Given the description of an element on the screen output the (x, y) to click on. 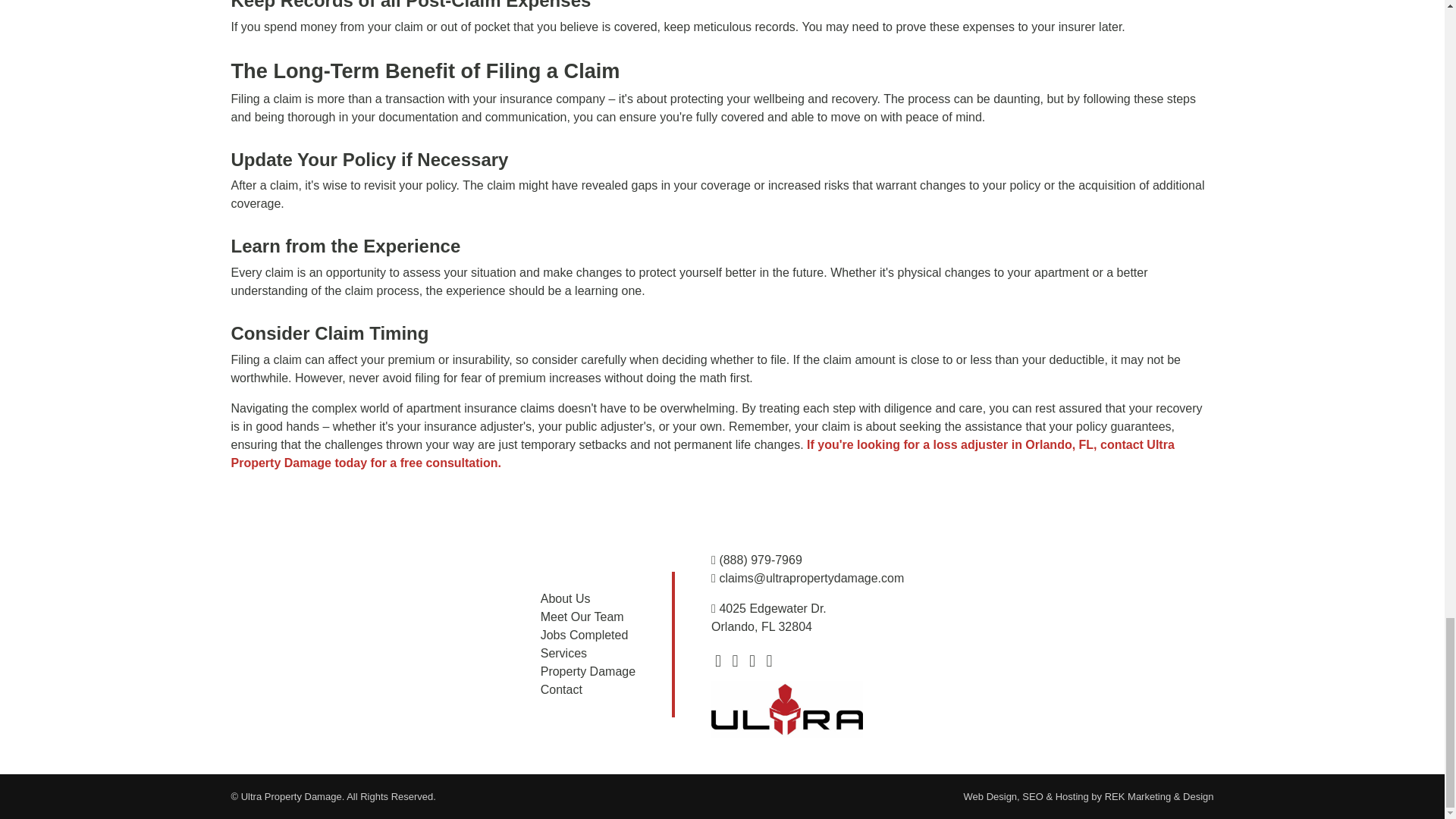
About Us (565, 598)
Services (563, 653)
Property Damage (587, 671)
Meet Our Team (582, 616)
Contact (561, 689)
Jobs Completed (584, 634)
